Given the description of an element on the screen output the (x, y) to click on. 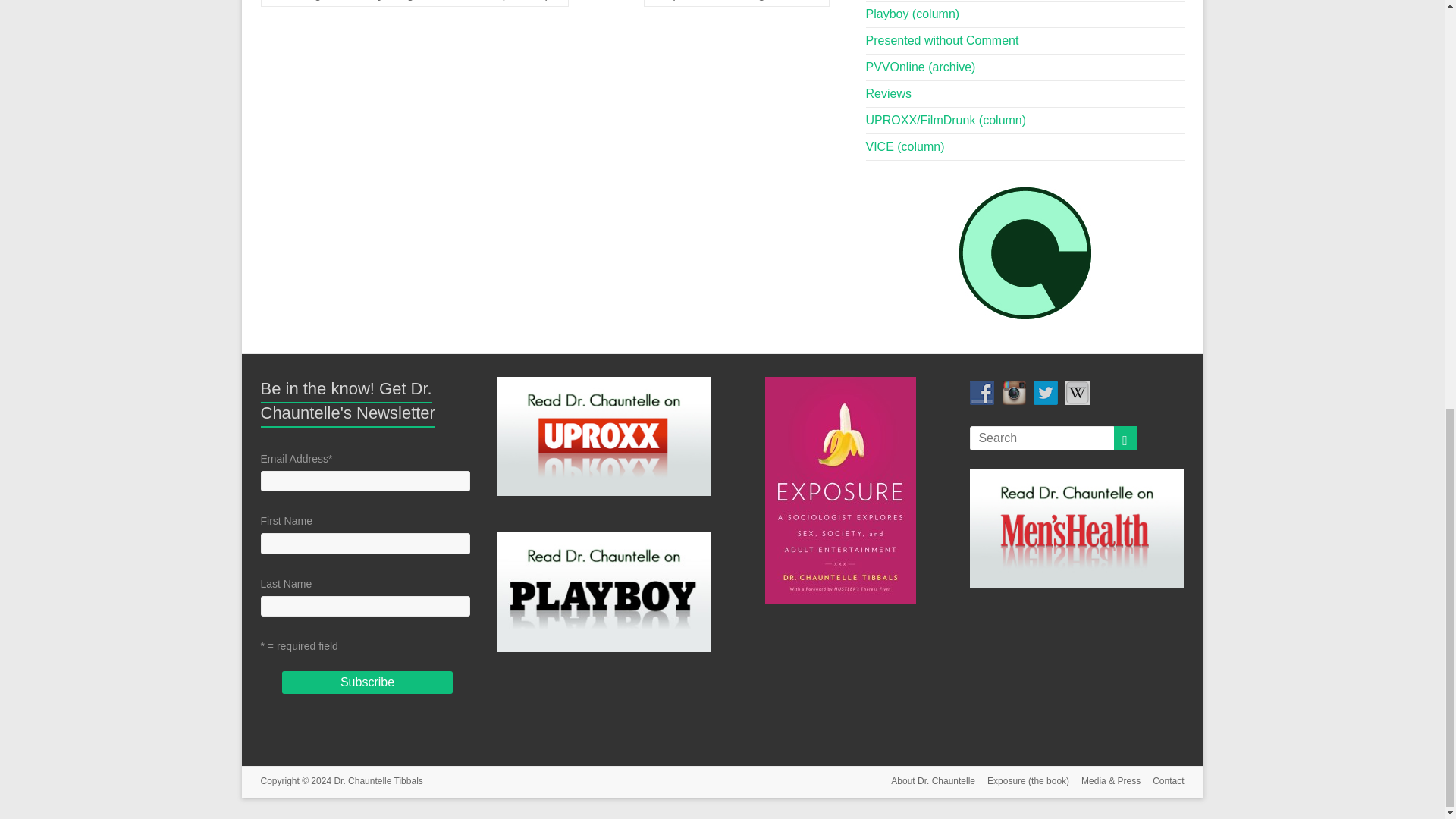
Visit me on Facebook (981, 392)
Visit me on Instagram (1013, 392)
Dr. Chauntelle Tibbals (377, 780)
Presented without Comment (942, 40)
Visit me on  (1077, 392)
Visit me on Twitter (1045, 392)
Subscribe (367, 681)
